Given the description of an element on the screen output the (x, y) to click on. 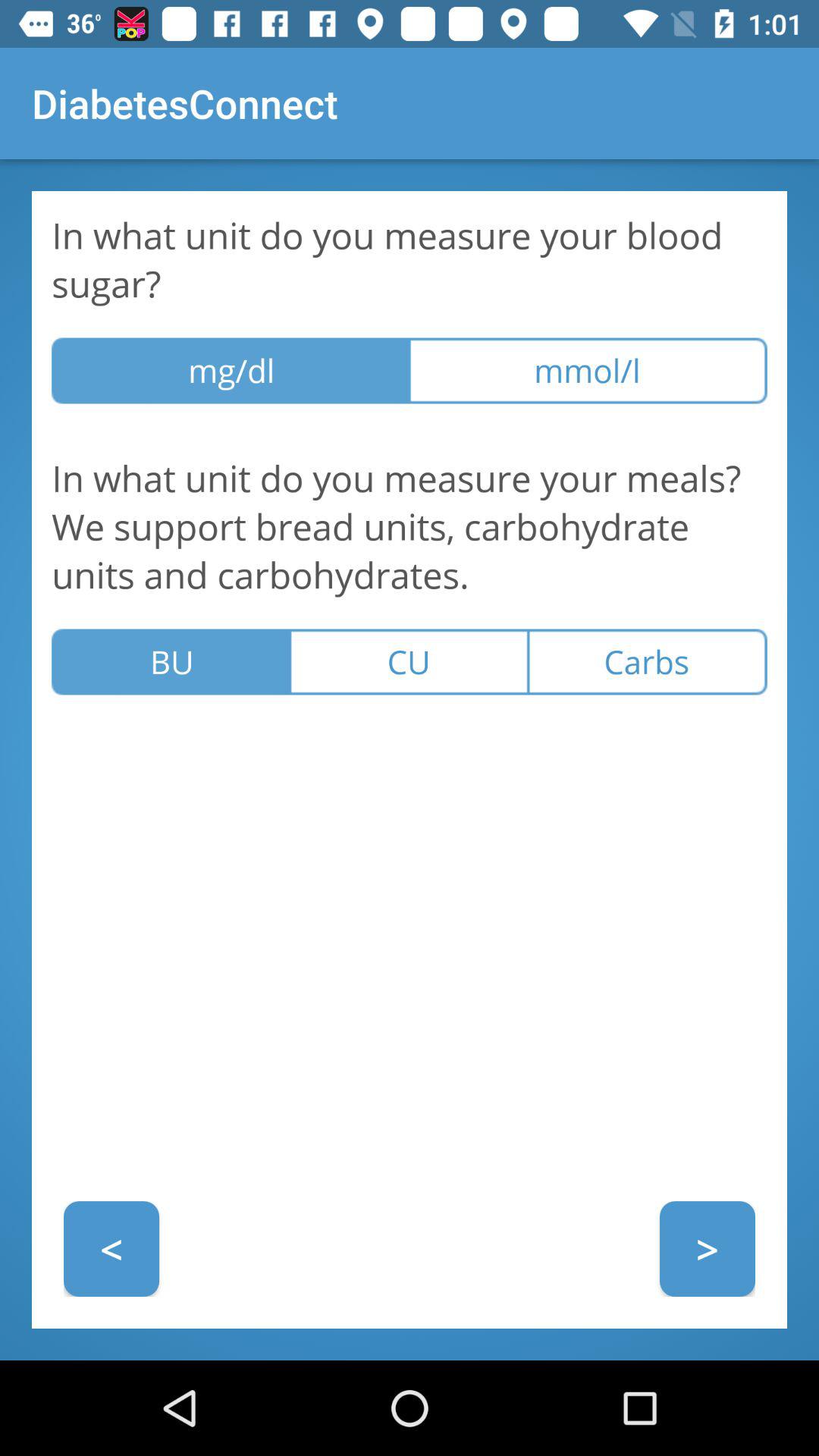
turn off icon below in what unit (409, 662)
